Given the description of an element on the screen output the (x, y) to click on. 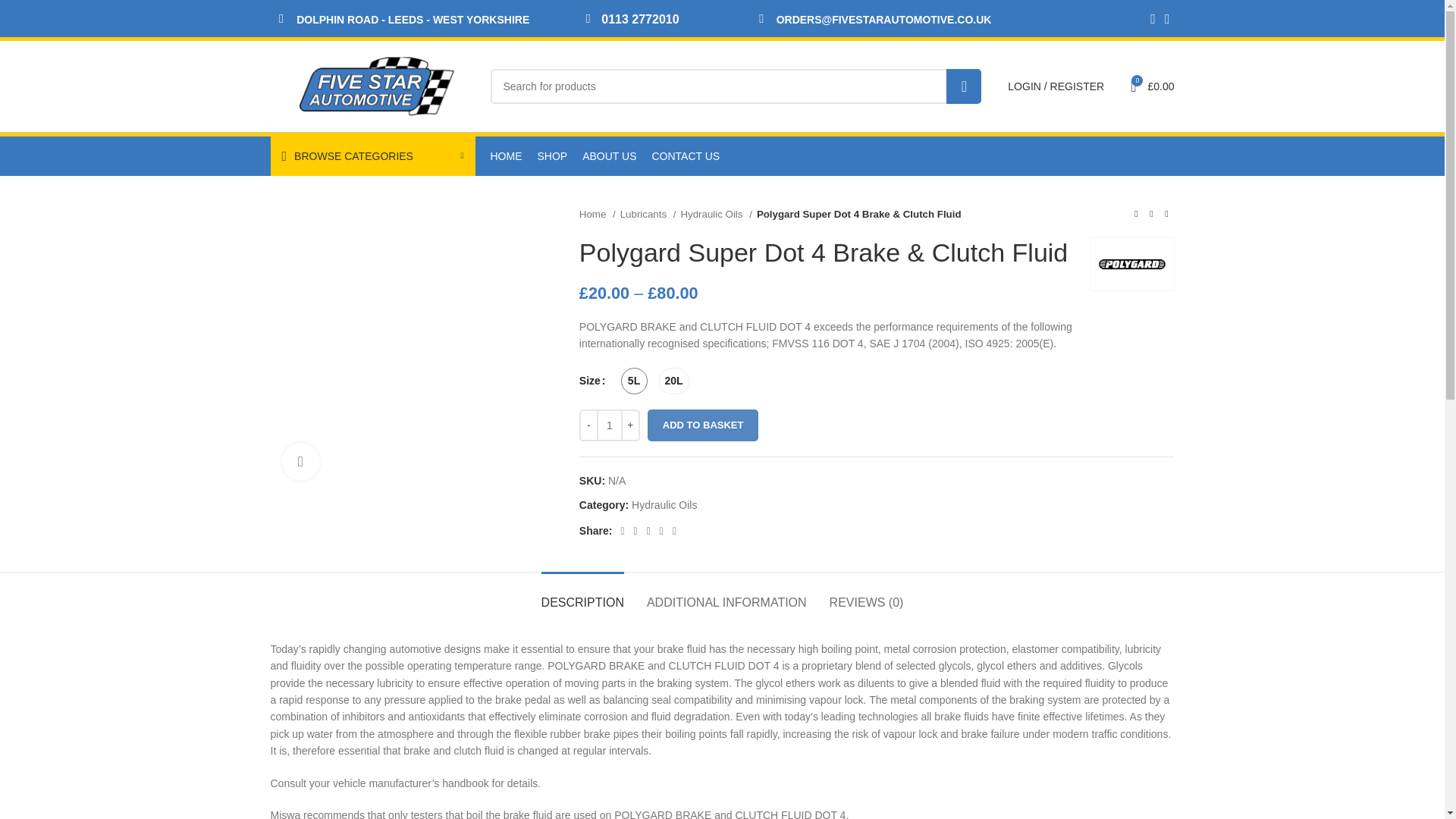
Lubricants (648, 213)
SEARCH (963, 86)
My account (1056, 86)
ABOUT US (609, 155)
Hydraulic Oils (715, 213)
HOME (505, 155)
Customer reviews powered by Trustpilot (1021, 156)
SHOP (552, 155)
Search for products (735, 86)
Home (597, 213)
Polygard (1131, 263)
CONTACT US (686, 155)
Shopping cart (1151, 86)
ADD TO BASKET (702, 425)
Hydraulic Oils (664, 504)
